Given the description of an element on the screen output the (x, y) to click on. 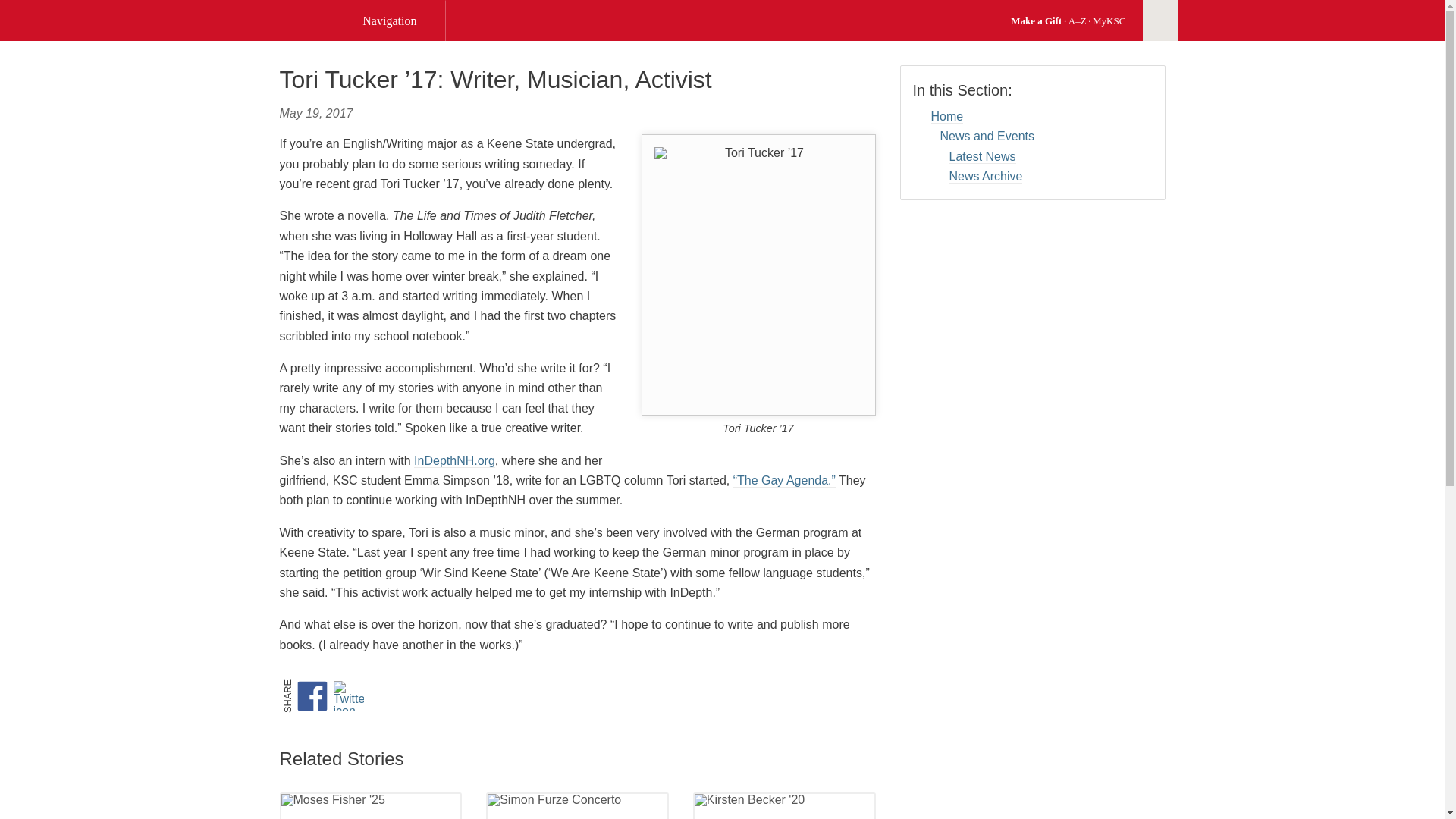
Navigation (397, 20)
MyKSC (1108, 20)
Keene State College (307, 20)
Share this story on Facebook. (315, 695)
Make a Gift (1036, 20)
Homepage (307, 20)
Share this story on Twitter. (351, 695)
